Given the description of an element on the screen output the (x, y) to click on. 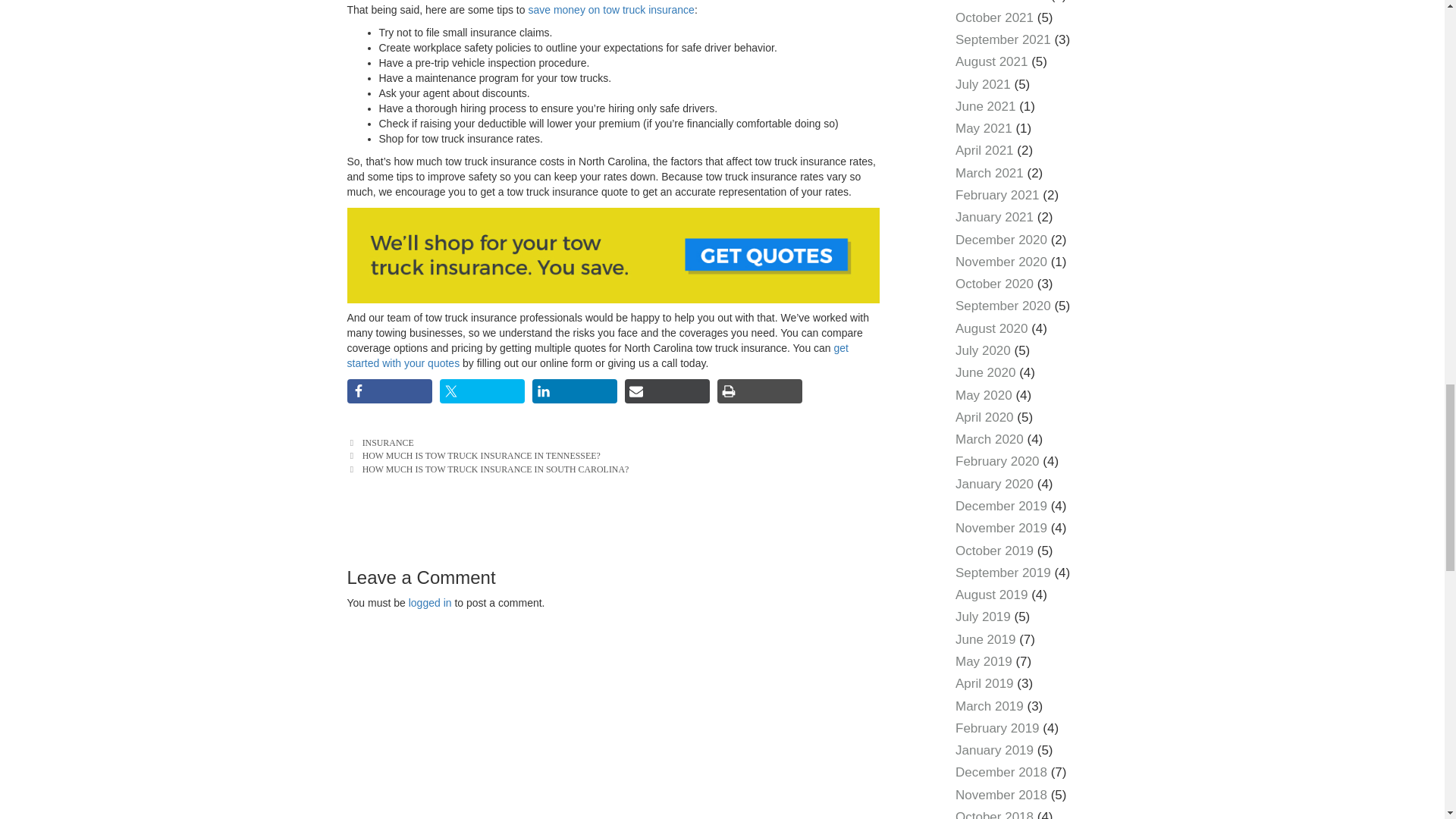
Share via Email (667, 391)
Share on LinkedIn (574, 391)
Print this Page (759, 391)
Share on Facebook (389, 391)
Share on Twitter (481, 391)
get started with your quotes (597, 355)
save money on tow truck insurance (610, 9)
